Given the description of an element on the screen output the (x, y) to click on. 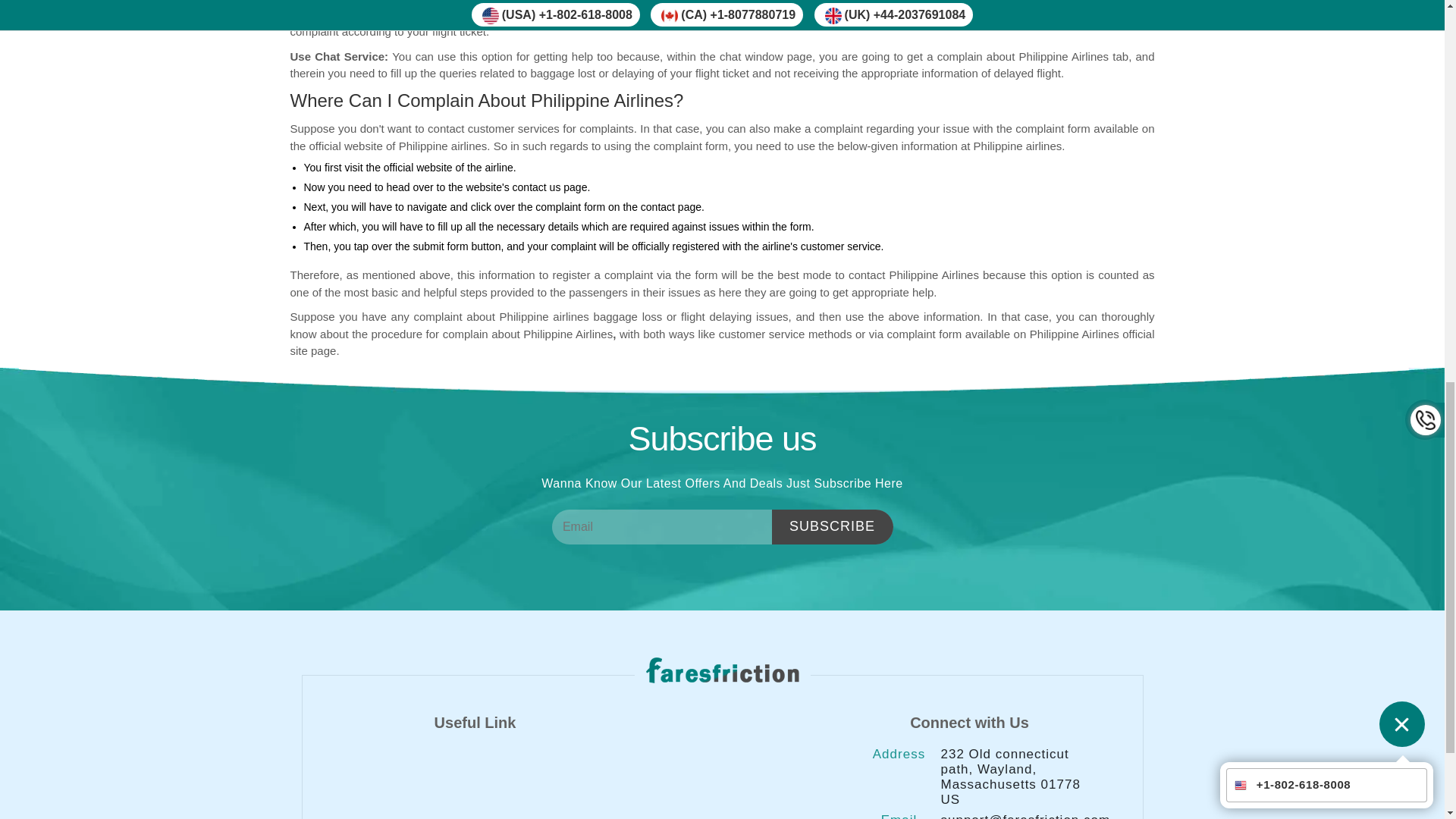
SUBSCRIBE (832, 526)
